Given the description of an element on the screen output the (x, y) to click on. 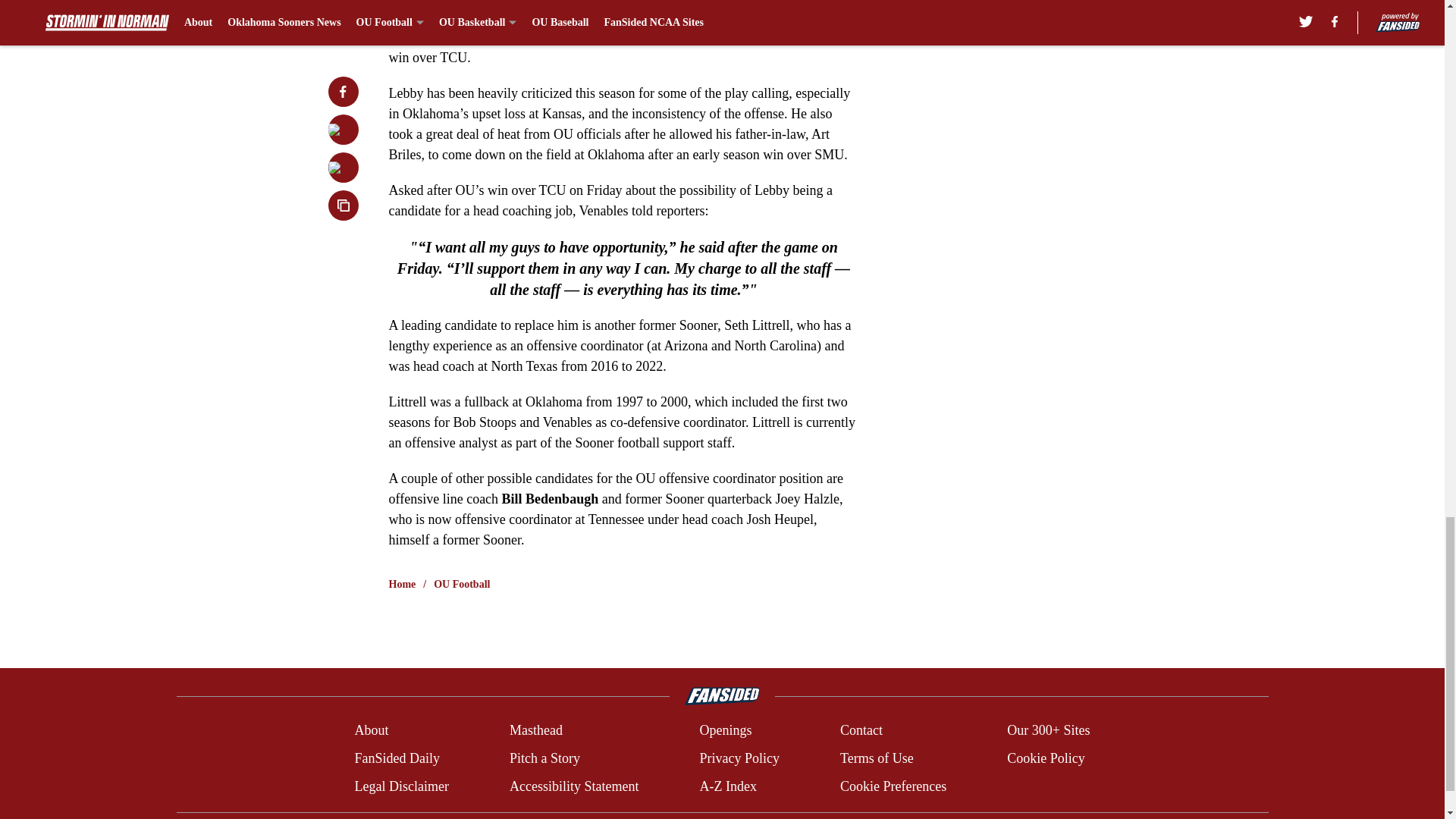
Accessibility Statement (574, 786)
A-Z Index (726, 786)
Openings (724, 730)
Cookie Preferences (893, 786)
Terms of Use (877, 758)
OU Football (461, 584)
FanSided Daily (396, 758)
Legal Disclaimer (400, 786)
Privacy Policy (738, 758)
Cookie Policy (1045, 758)
Pitch a Story (544, 758)
Masthead (535, 730)
Contact (861, 730)
Home (401, 584)
About (370, 730)
